Given the description of an element on the screen output the (x, y) to click on. 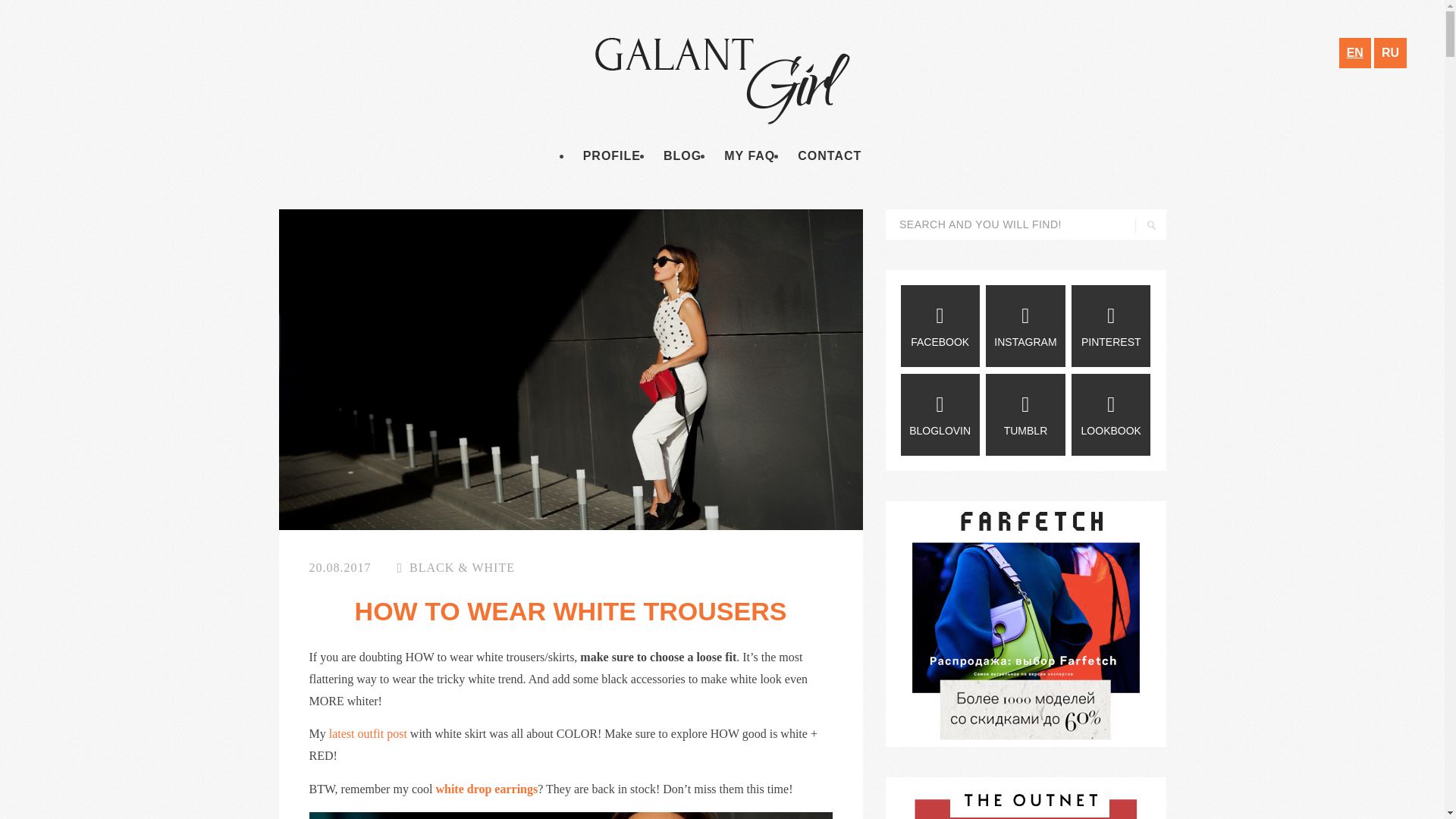
EN (1355, 52)
MY FAQ (749, 156)
white drop earrings (484, 788)
latest outfit post (368, 733)
RU (1390, 52)
BLOG (682, 156)
PROFILE (612, 156)
CONTACT (829, 156)
